Given the description of an element on the screen output the (x, y) to click on. 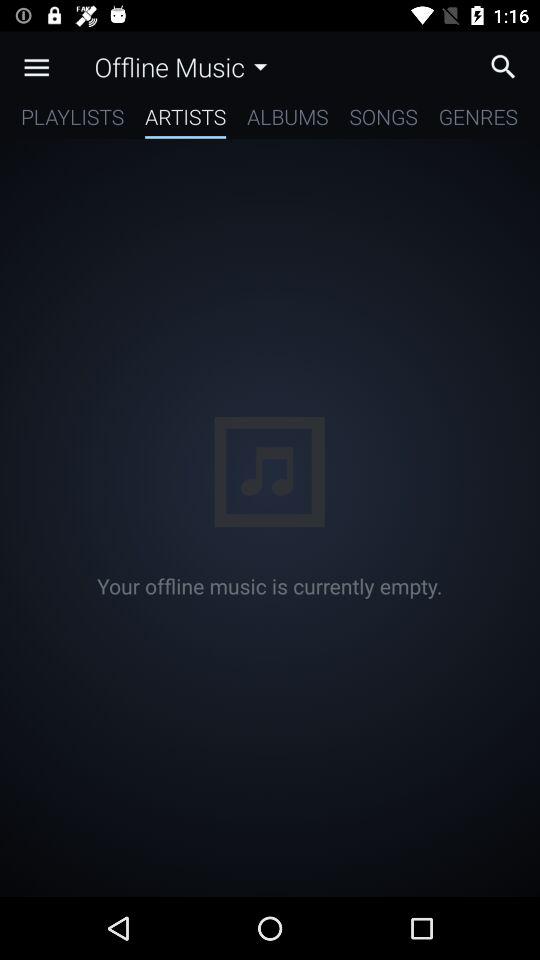
turn off the app next to the playlists icon (185, 120)
